Given the description of an element on the screen output the (x, y) to click on. 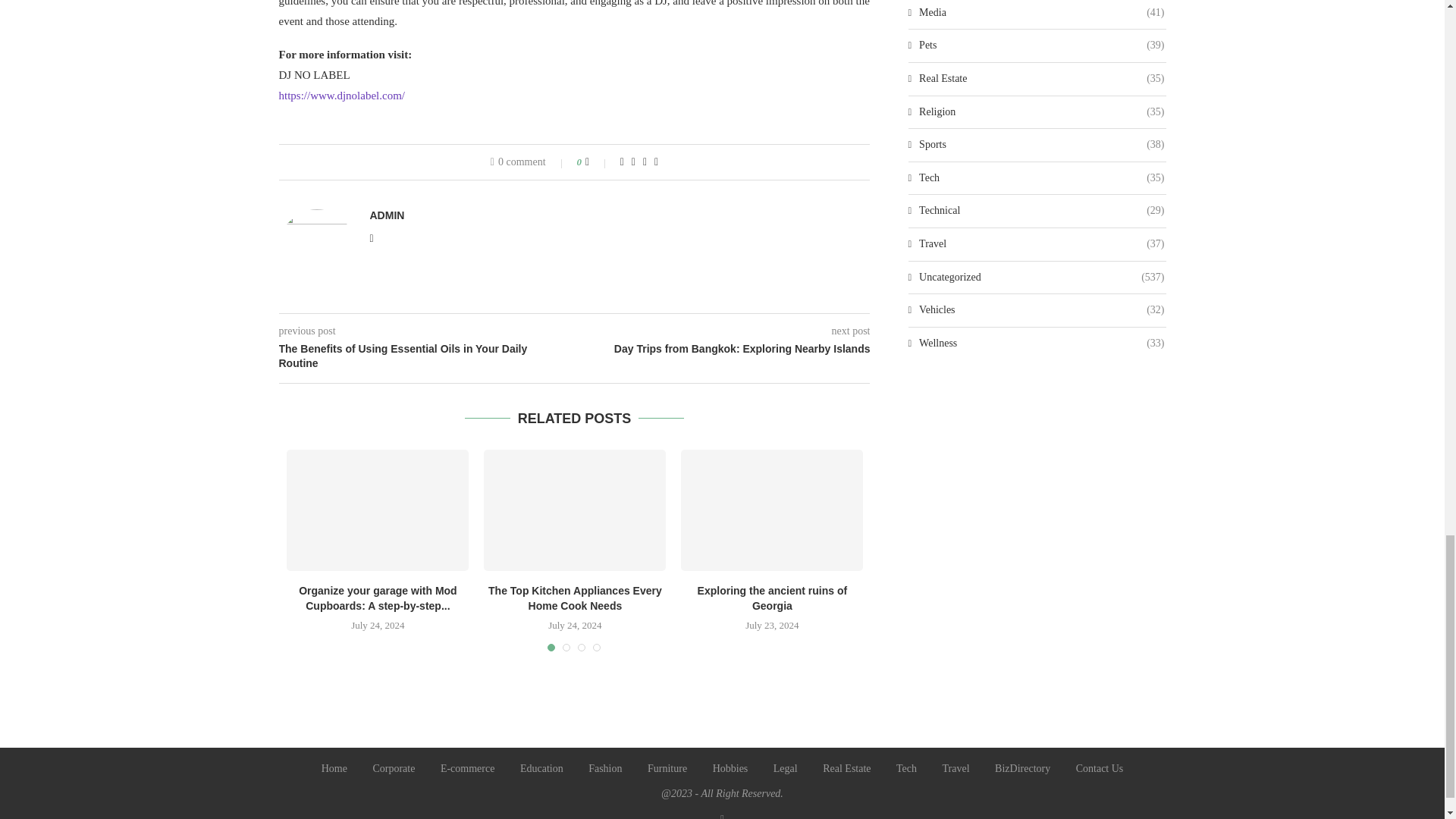
The Top Kitchen Appliances Every Home Cook Needs (574, 509)
Like (597, 162)
Author admin (386, 215)
Day Trips from Bangkok: Exploring Nearby Islands (722, 349)
Exploring the ancient ruins of Georgia (772, 509)
ADMIN (386, 215)
The Benefits of Using Essential Oils in Your Daily Routine (427, 356)
